Given the description of an element on the screen output the (x, y) to click on. 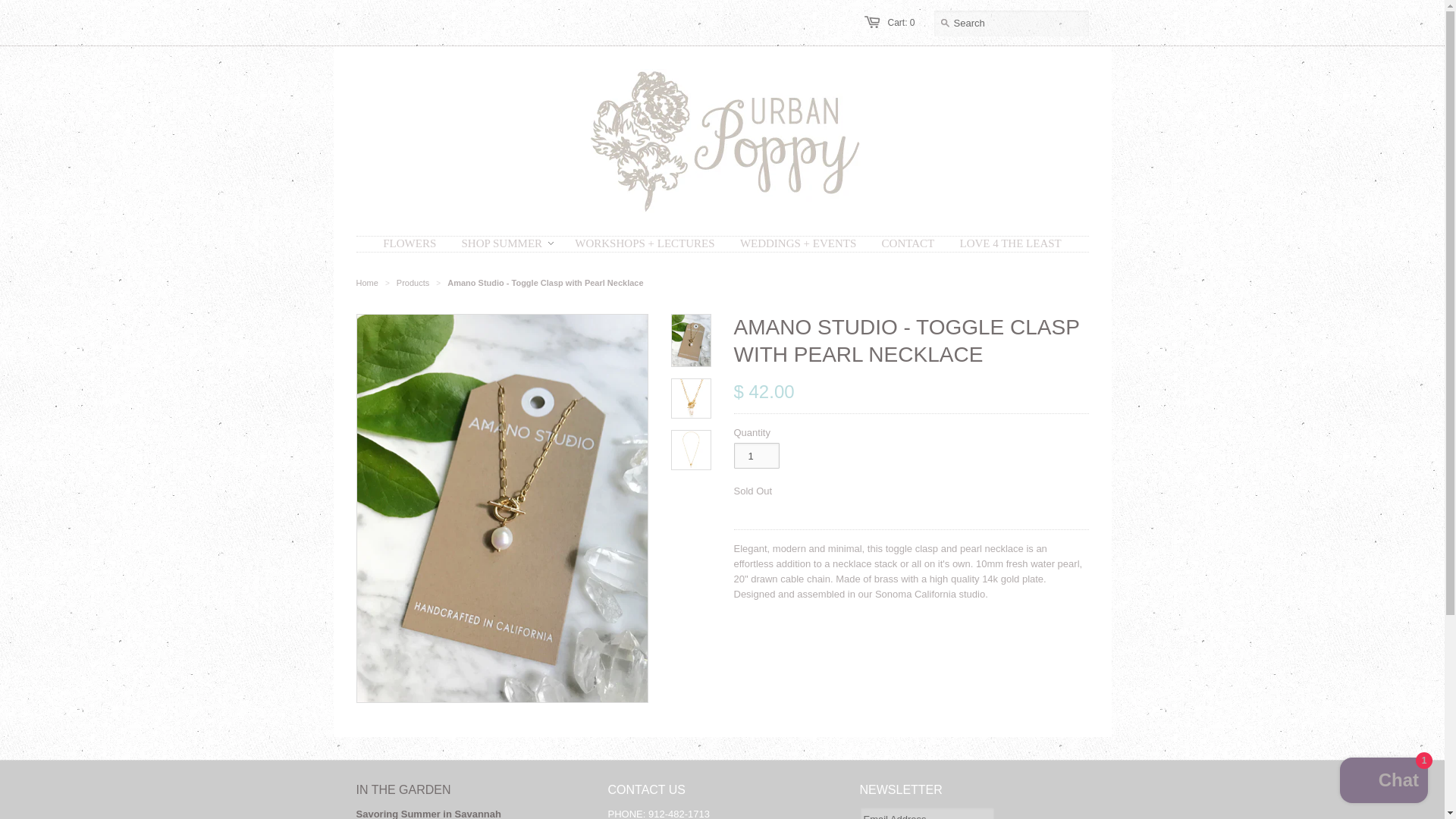
All Products (412, 282)
CONTACT (908, 243)
Products (412, 282)
SHOP SUMMER (501, 243)
Urban Poppy (367, 282)
Cart: 0 (900, 22)
Shopping Cart (900, 22)
FLOWERS (408, 243)
LOVE 4 THE LEAST (1009, 243)
Home (367, 282)
Shopify online store chat (1383, 781)
1 (755, 455)
Savoring Summer in Savannah (428, 813)
IN THE GARDEN (403, 789)
